Given the description of an element on the screen output the (x, y) to click on. 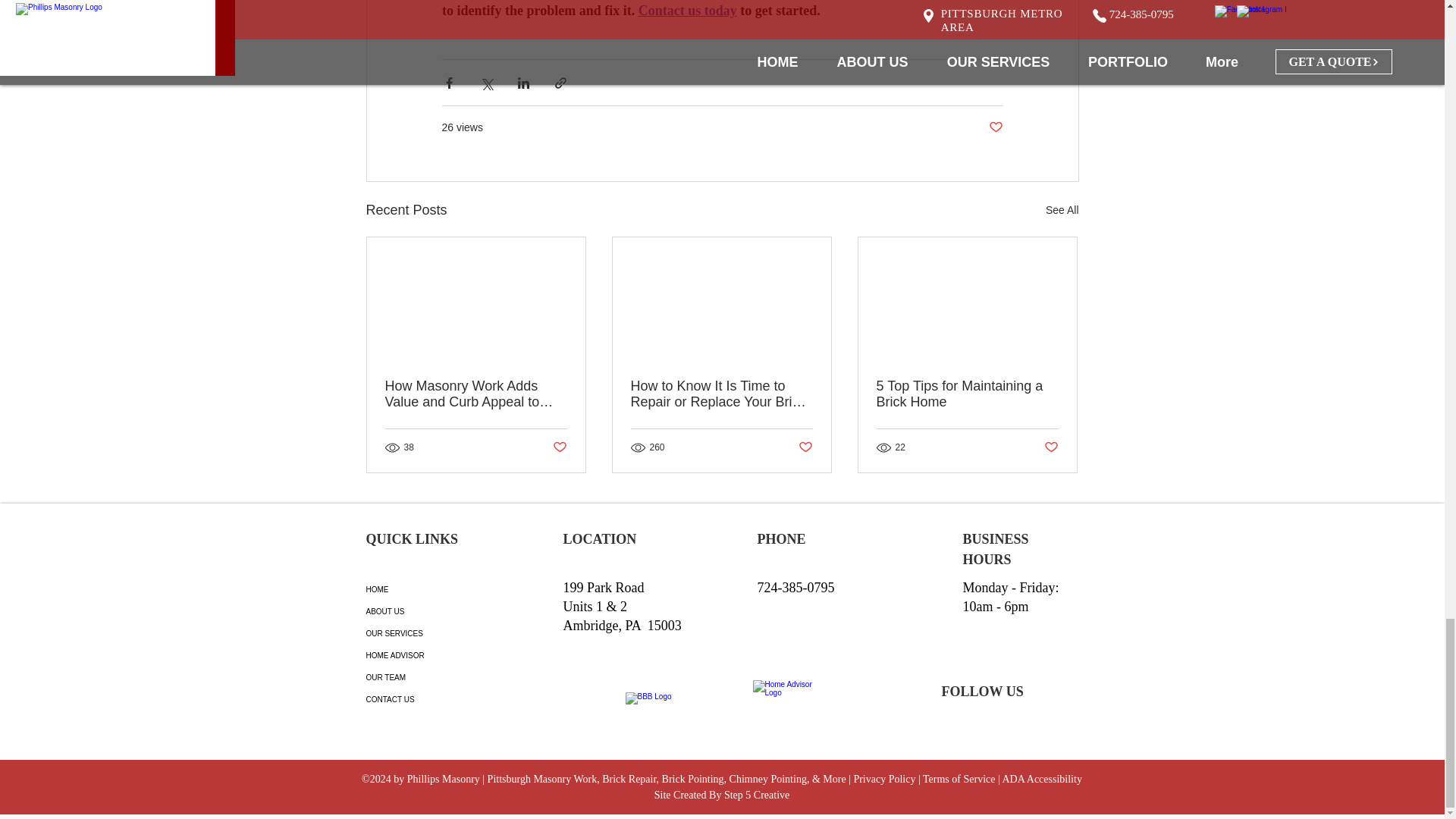
HOME (418, 589)
Post not marked as liked (558, 447)
Post not marked as liked (804, 447)
Post not marked as liked (995, 127)
See All (1061, 210)
OUR SERVICES (418, 633)
ABOUT US (418, 611)
Post not marked as liked (1050, 447)
5 Top Tips for Maintaining a Brick Home (967, 394)
How to Know It Is Time to Repair or Replace Your Brick Steps (721, 394)
Contact us today (686, 10)
How Masonry Work Adds Value and Curb Appeal to Your Property (476, 394)
